Given the description of an element on the screen output the (x, y) to click on. 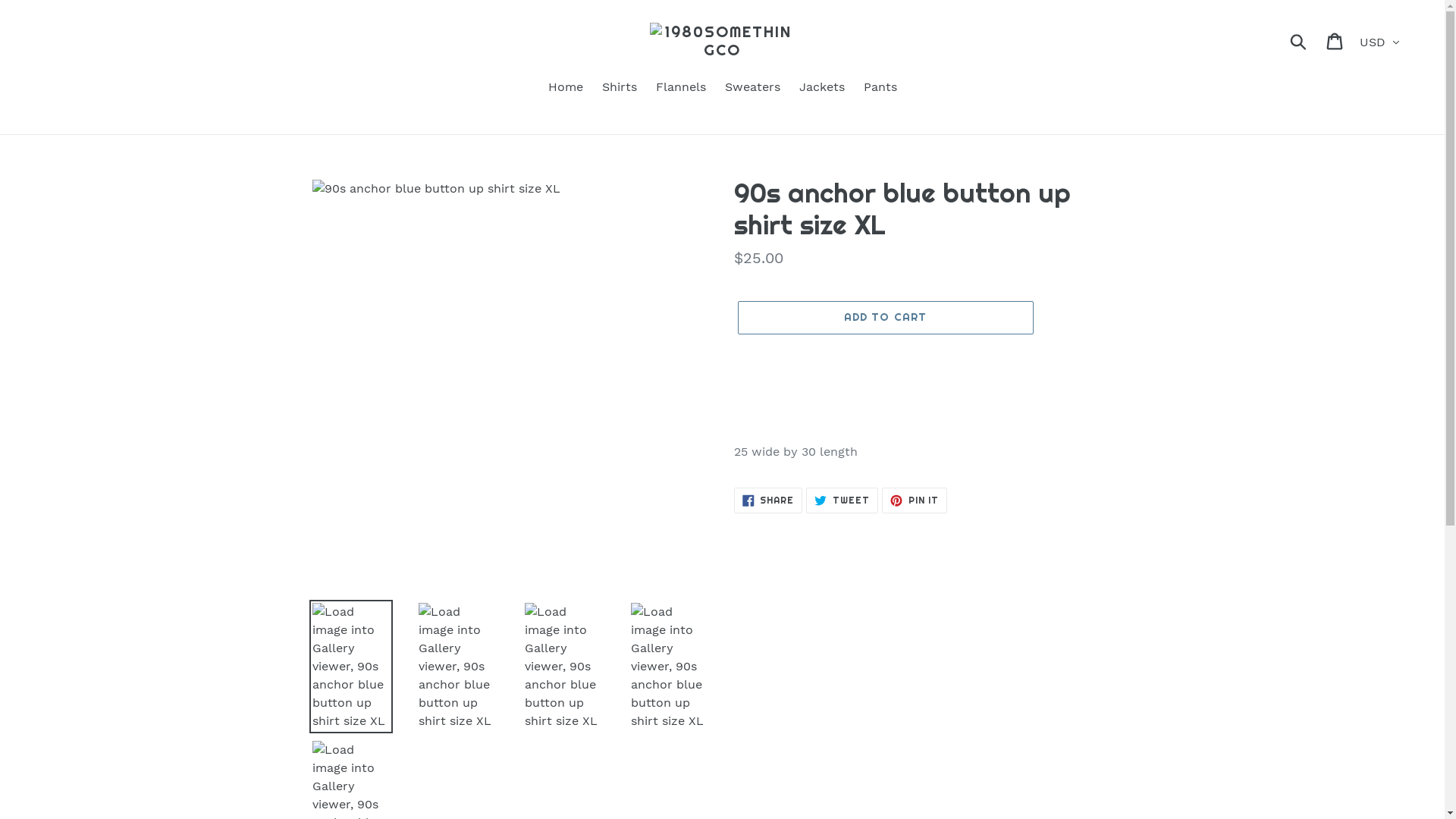
Home Element type: text (564, 88)
Jackets Element type: text (821, 88)
SHARE
SHARE ON FACEBOOK Element type: text (768, 500)
Sweaters Element type: text (752, 88)
PIN IT
PIN ON PINTEREST Element type: text (914, 500)
Pants Element type: text (879, 88)
TWEET
TWEET ON TWITTER Element type: text (842, 500)
Submit Element type: text (1298, 40)
Flannels Element type: text (679, 88)
Cart Element type: text (1335, 41)
Shirts Element type: text (619, 88)
ADD TO CART Element type: text (884, 317)
